Given the description of an element on the screen output the (x, y) to click on. 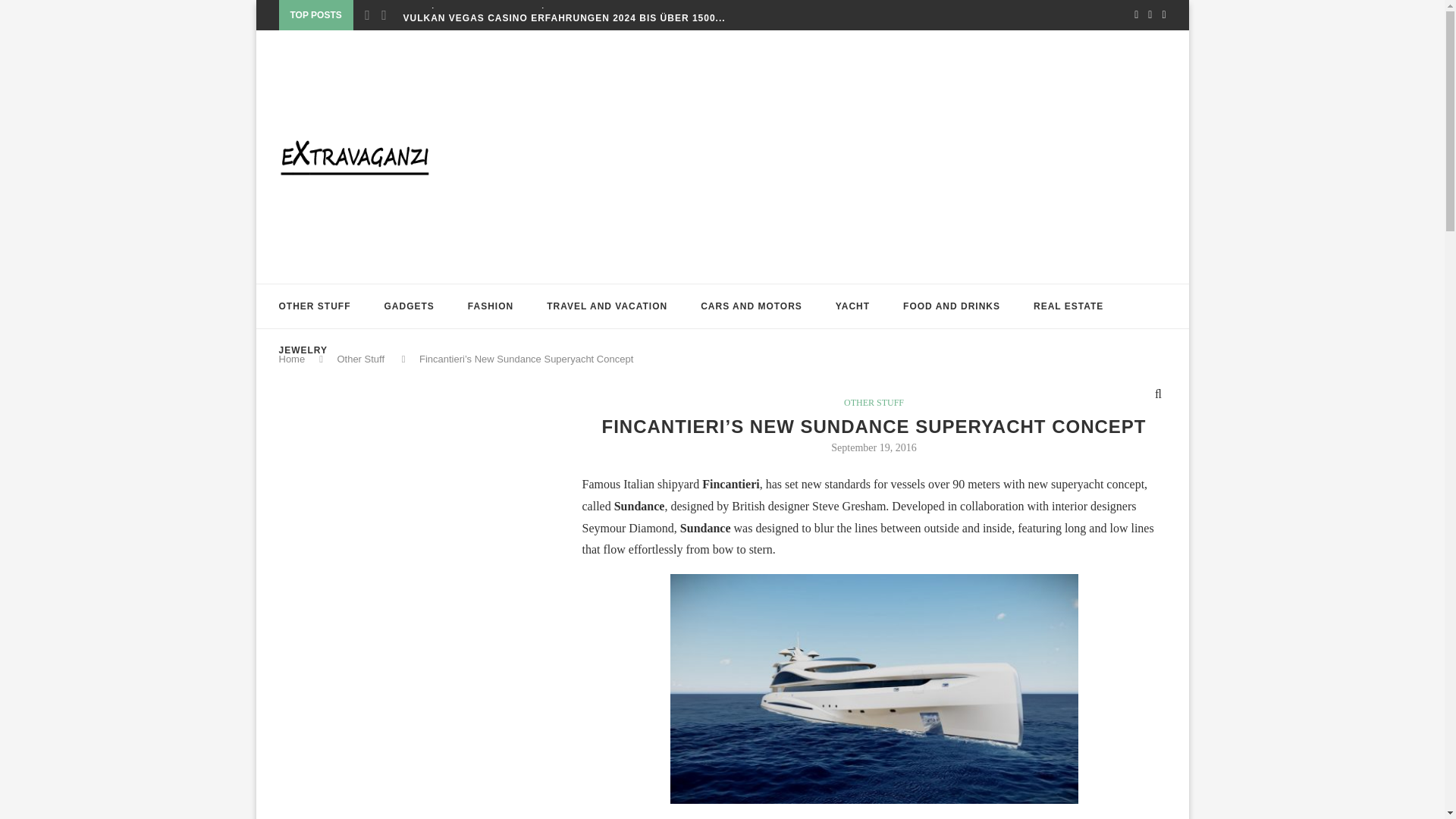
View all posts in Other Stuff (874, 402)
GADGETS (408, 306)
FOOD AND DRINKS (951, 306)
OTHER STUFF (314, 306)
Advertisement (392, 538)
REAL ESTATE (1068, 306)
TRAVEL AND VACATION (606, 306)
FASHION (490, 306)
CARS AND MOTORS (751, 306)
